Given the description of an element on the screen output the (x, y) to click on. 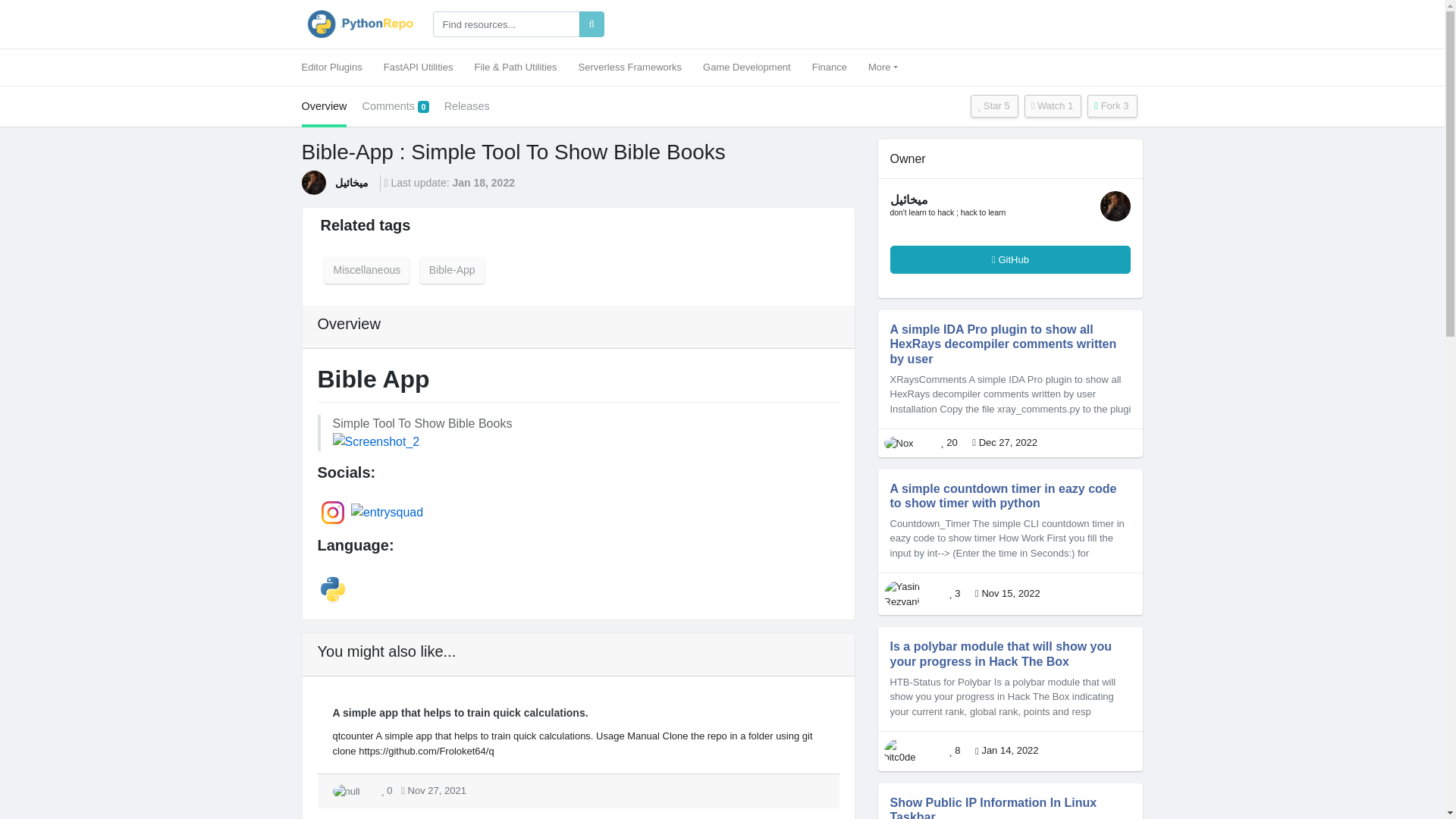
Game Development (747, 67)
FastAPI Utilities (418, 67)
Editor Plugins (336, 67)
Finance (829, 67)
More (882, 67)
Serverless Frameworks (630, 67)
